Given the description of an element on the screen output the (x, y) to click on. 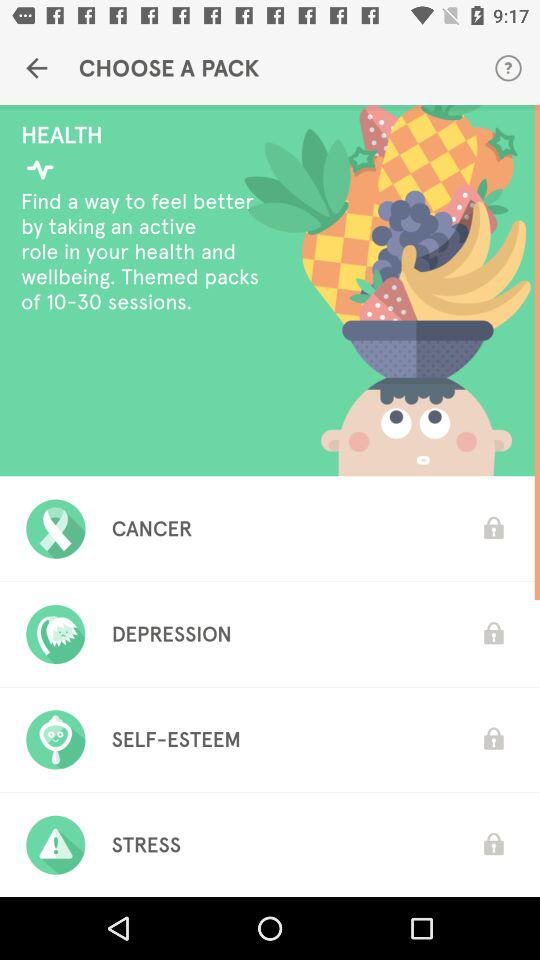
swipe to the find a way (145, 251)
